Given the description of an element on the screen output the (x, y) to click on. 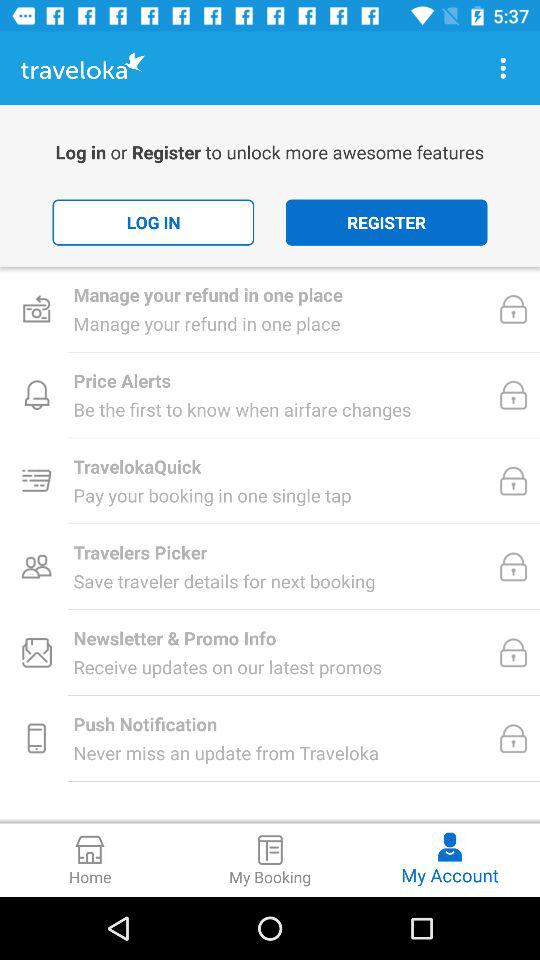
get more information (503, 68)
